Given the description of an element on the screen output the (x, y) to click on. 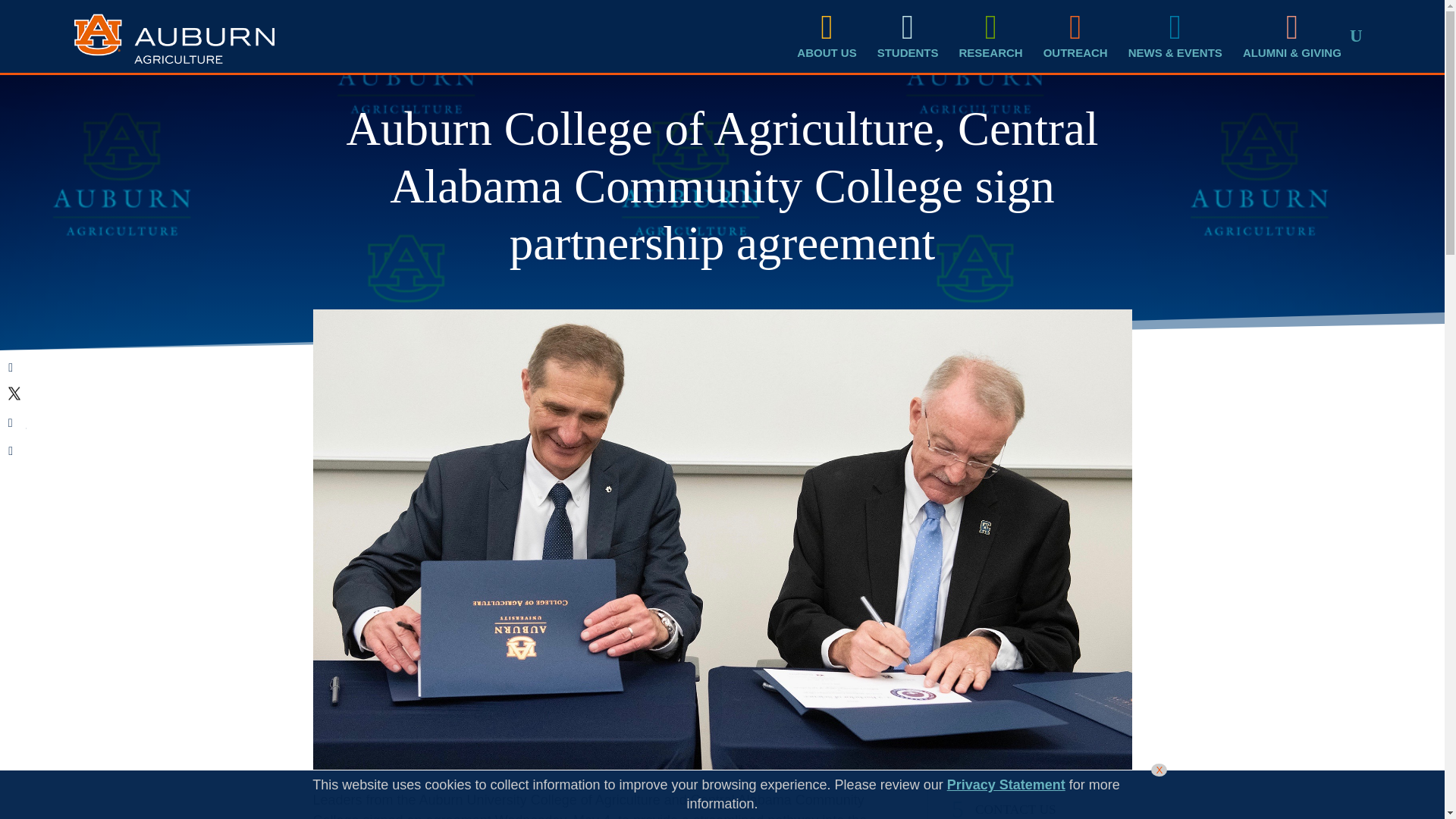
ABOUT US (824, 36)
